Given the description of an element on the screen output the (x, y) to click on. 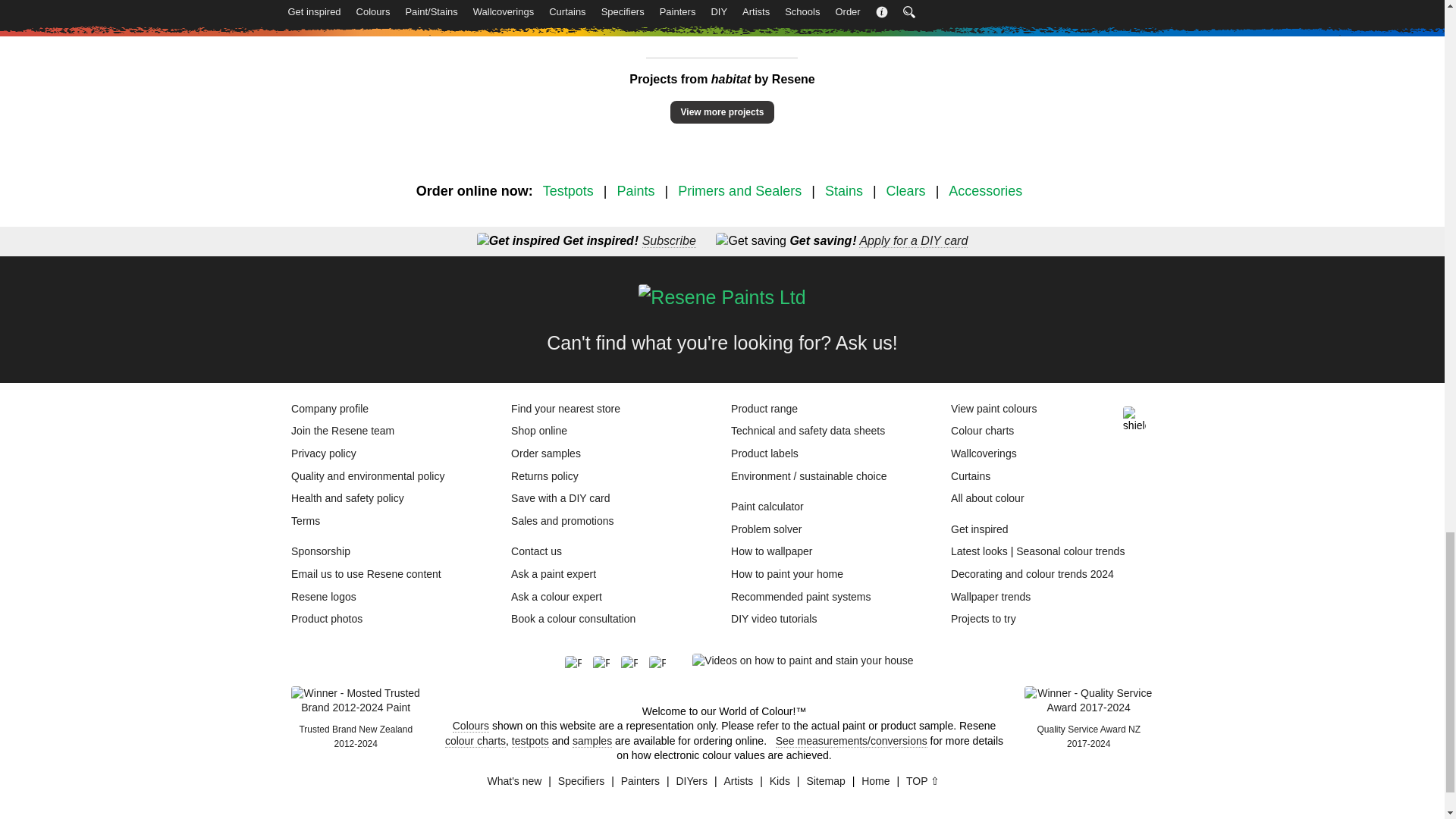
Follow us on YouTube (663, 664)
Follow us on Pinterest (606, 664)
Follow us on Instagram (635, 664)
View DIY Videos (802, 661)
Follow us on Facebook (578, 664)
